Given the description of an element on the screen output the (x, y) to click on. 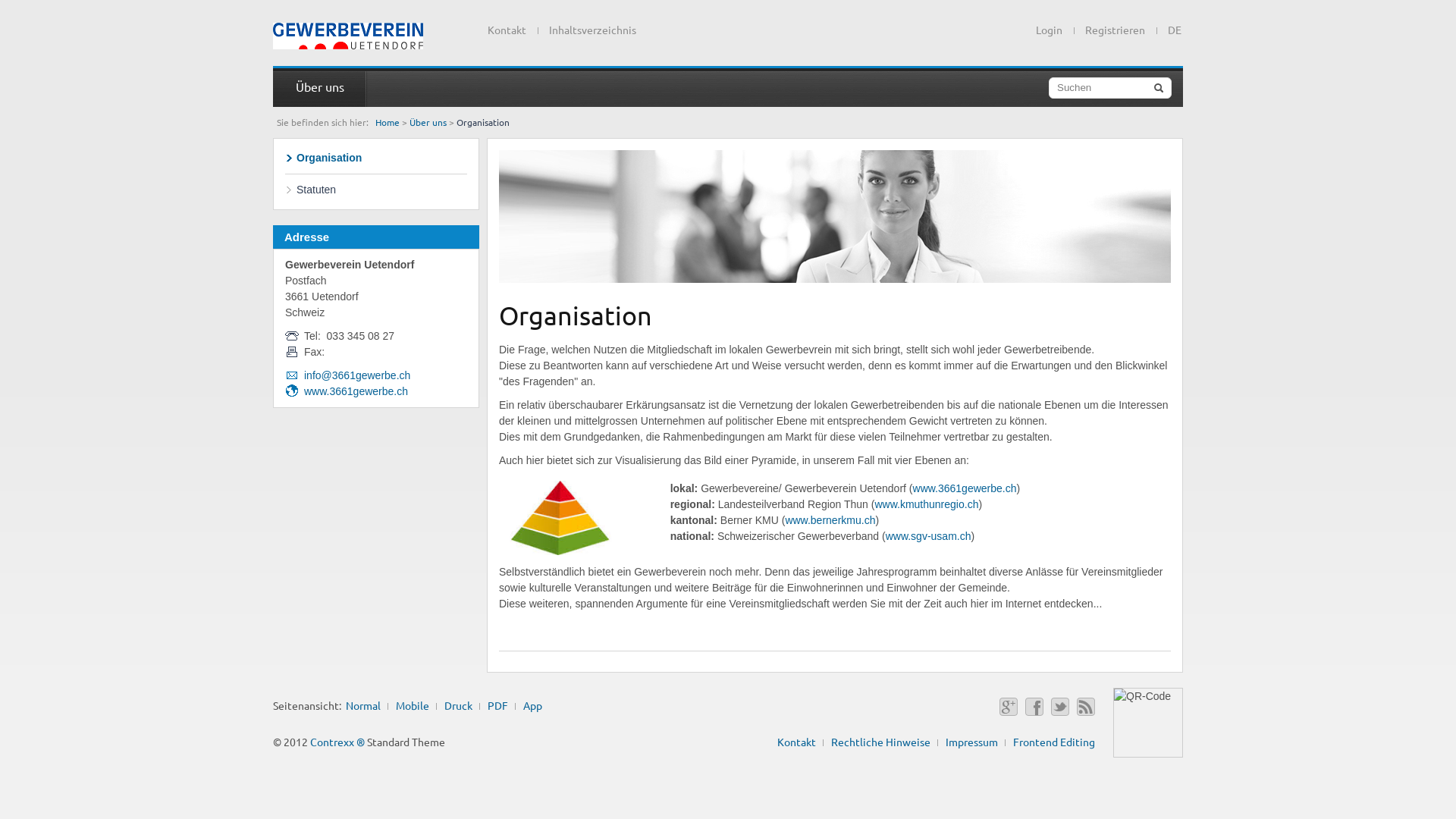
Rechtliche Hinweise Element type: text (880, 741)
Mobile Element type: text (412, 705)
Impressum Element type: text (971, 741)
  Element type: text (348, 35)
info@3661gewerbe.ch Element type: text (357, 375)
Inhaltsverzeichnis Element type: text (592, 29)
www.3661gewerbe.ch Element type: text (964, 488)
Frontend Editing Element type: text (1054, 741)
Suchen Element type: text (1109, 87)
www.kmuthunregio.ch Element type: text (926, 504)
Home Element type: text (387, 122)
Normal Element type: text (362, 705)
Statuten Element type: text (376, 189)
Registrieren Element type: text (1115, 29)
Organisation Element type: text (376, 158)
Kontakt Element type: text (796, 741)
Druck Element type: text (458, 705)
App Element type: text (532, 705)
www.3661gewerbe.ch Element type: text (355, 391)
DE Element type: text (1169, 27)
Kontakt Element type: text (506, 29)
www.sgv-usam.ch Element type: text (928, 536)
Login Element type: text (1048, 29)
PDF Element type: text (497, 705)
www.bernerkmu.ch Element type: text (829, 520)
